Given the description of an element on the screen output the (x, y) to click on. 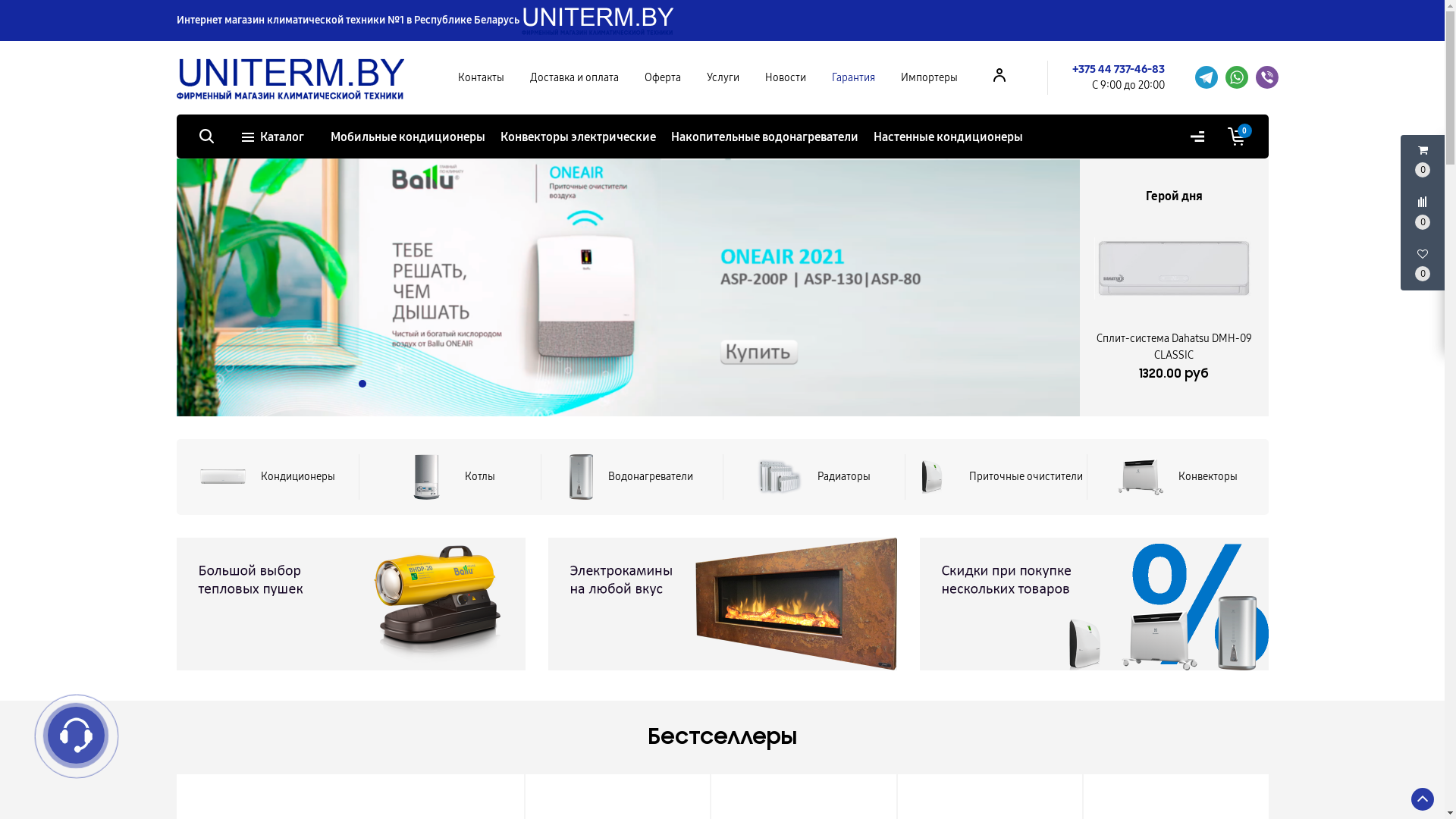
0 Element type: text (1235, 136)
+375 44 737-46-83 Element type: text (1118, 68)
